Given the description of an element on the screen output the (x, y) to click on. 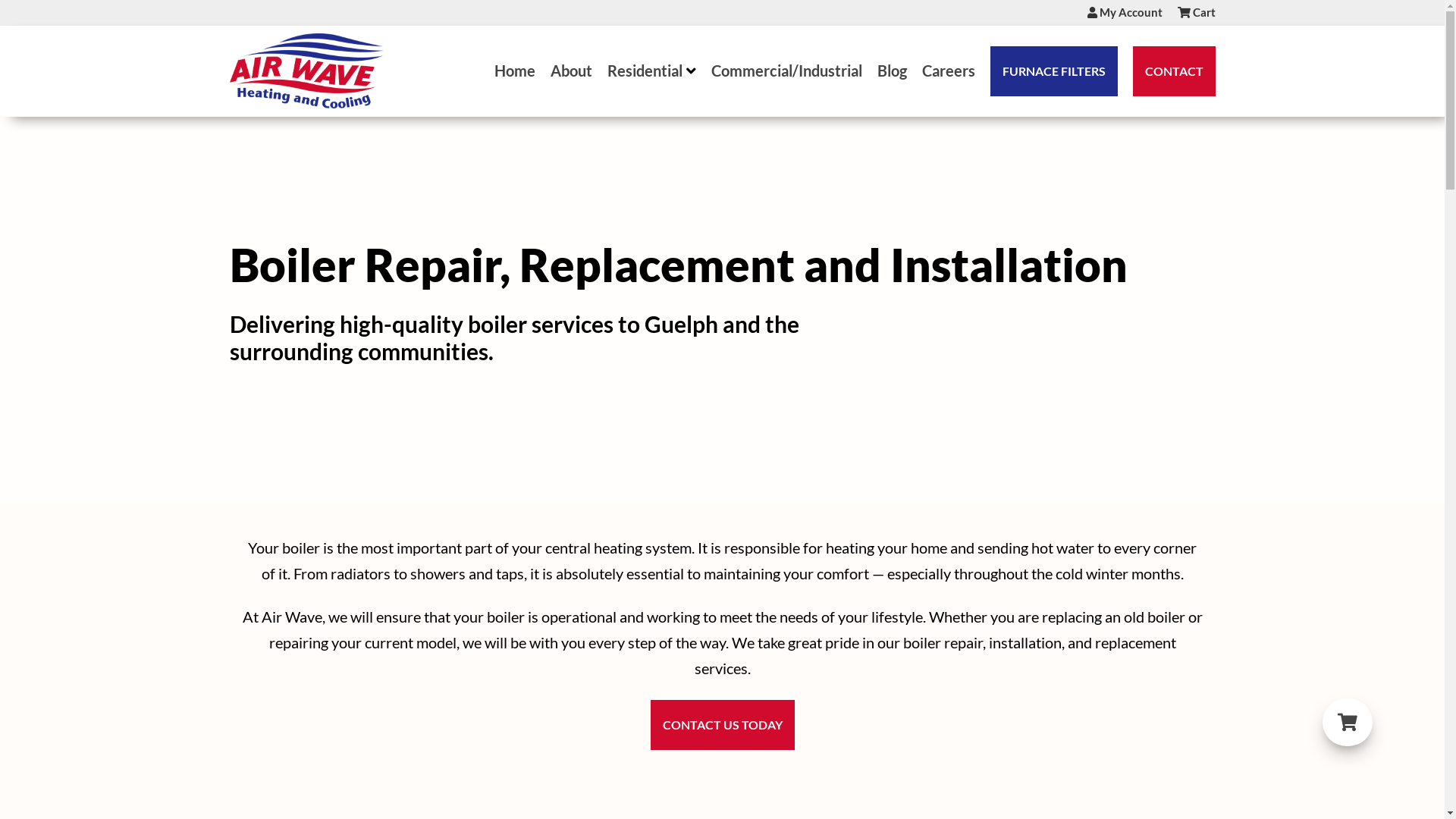
My Account Element type: text (1124, 12)
Commercial/Industrial Element type: text (786, 71)
Careers Element type: text (948, 71)
CONTACT US TODAY Element type: text (722, 724)
FURNACE FILTERS Element type: text (1053, 71)
Blog Element type: text (891, 71)
About Element type: text (571, 71)
Home Element type: text (514, 71)
Cart Element type: text (1195, 12)
CONTACT Element type: text (1173, 71)
Residential Element type: text (650, 71)
